Given the description of an element on the screen output the (x, y) to click on. 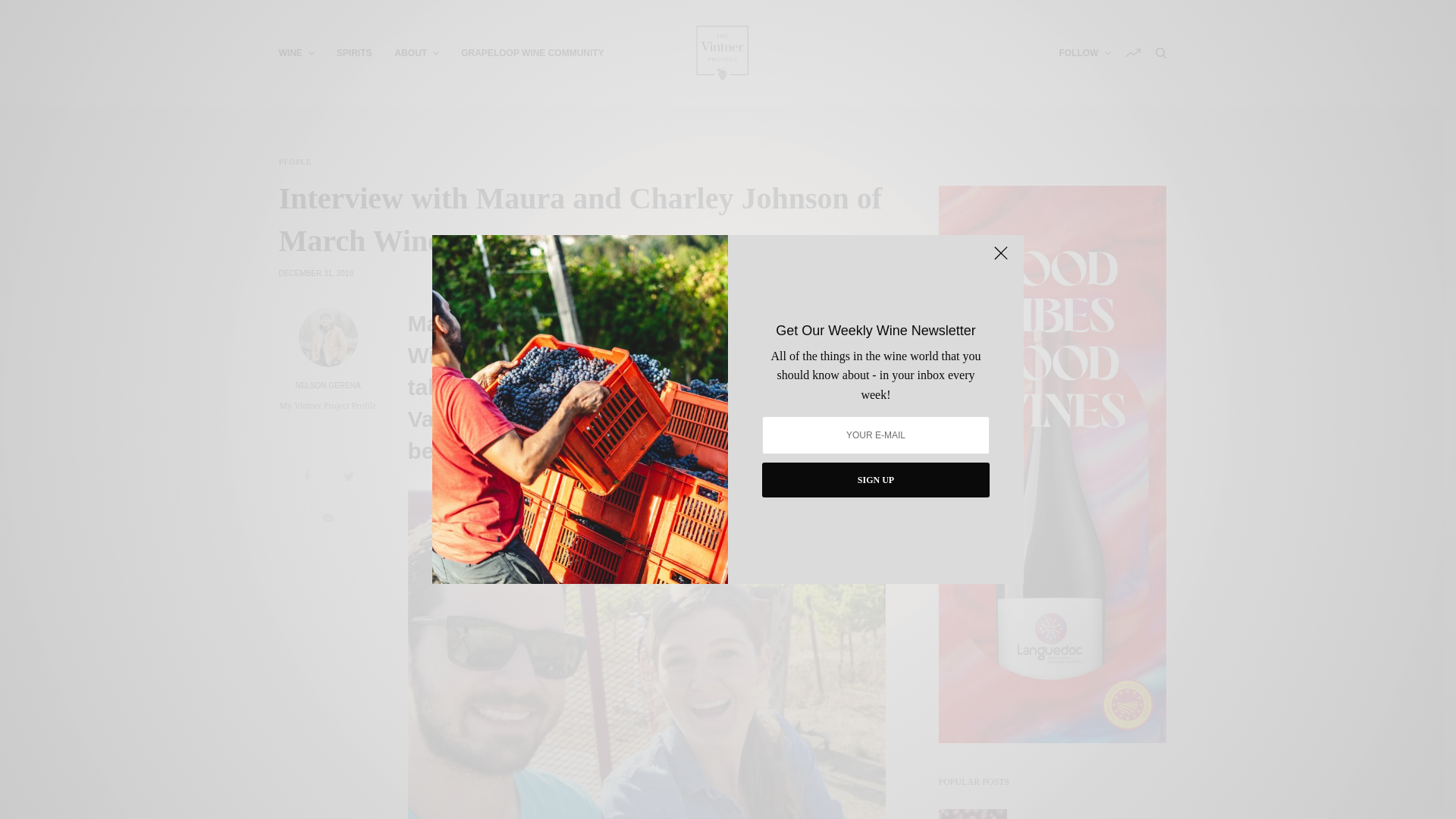
Vintner Project (721, 52)
SIGN UP (875, 479)
GRAPELOOP WINE COMMUNITY (532, 53)
PEOPLE (296, 162)
ABOUT (416, 53)
FOLLOW (1084, 53)
NELSON GERENA (328, 385)
